Given the description of an element on the screen output the (x, y) to click on. 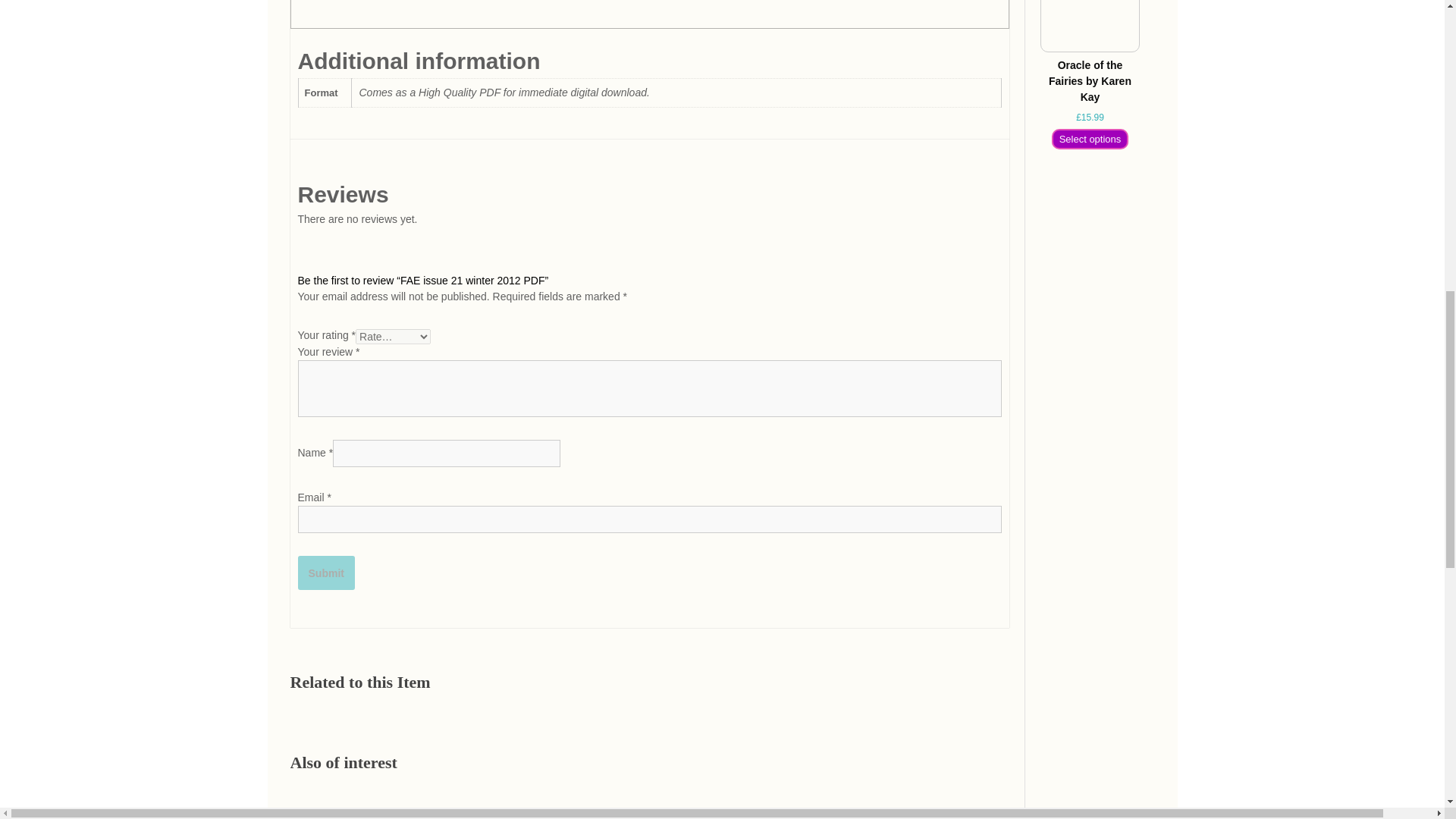
Submit (325, 572)
Submit (325, 572)
